Given the description of an element on the screen output the (x, y) to click on. 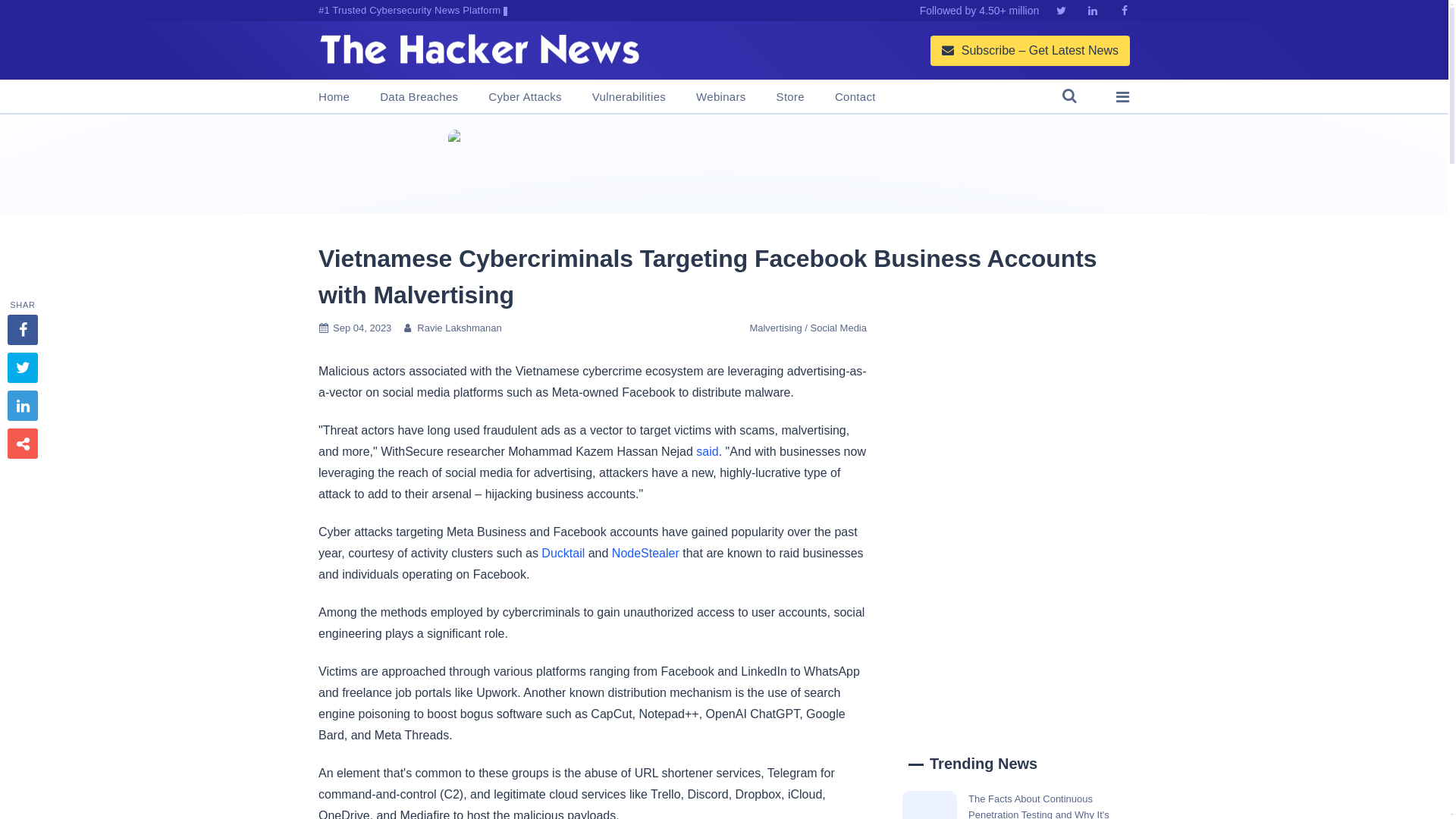
Home (333, 96)
Vulnerabilities (628, 96)
Data Breaches (419, 96)
Webinars (720, 96)
Ducktail (563, 553)
Cyber Attacks (523, 96)
NodeStealer (645, 553)
Contact (855, 96)
